Given the description of an element on the screen output the (x, y) to click on. 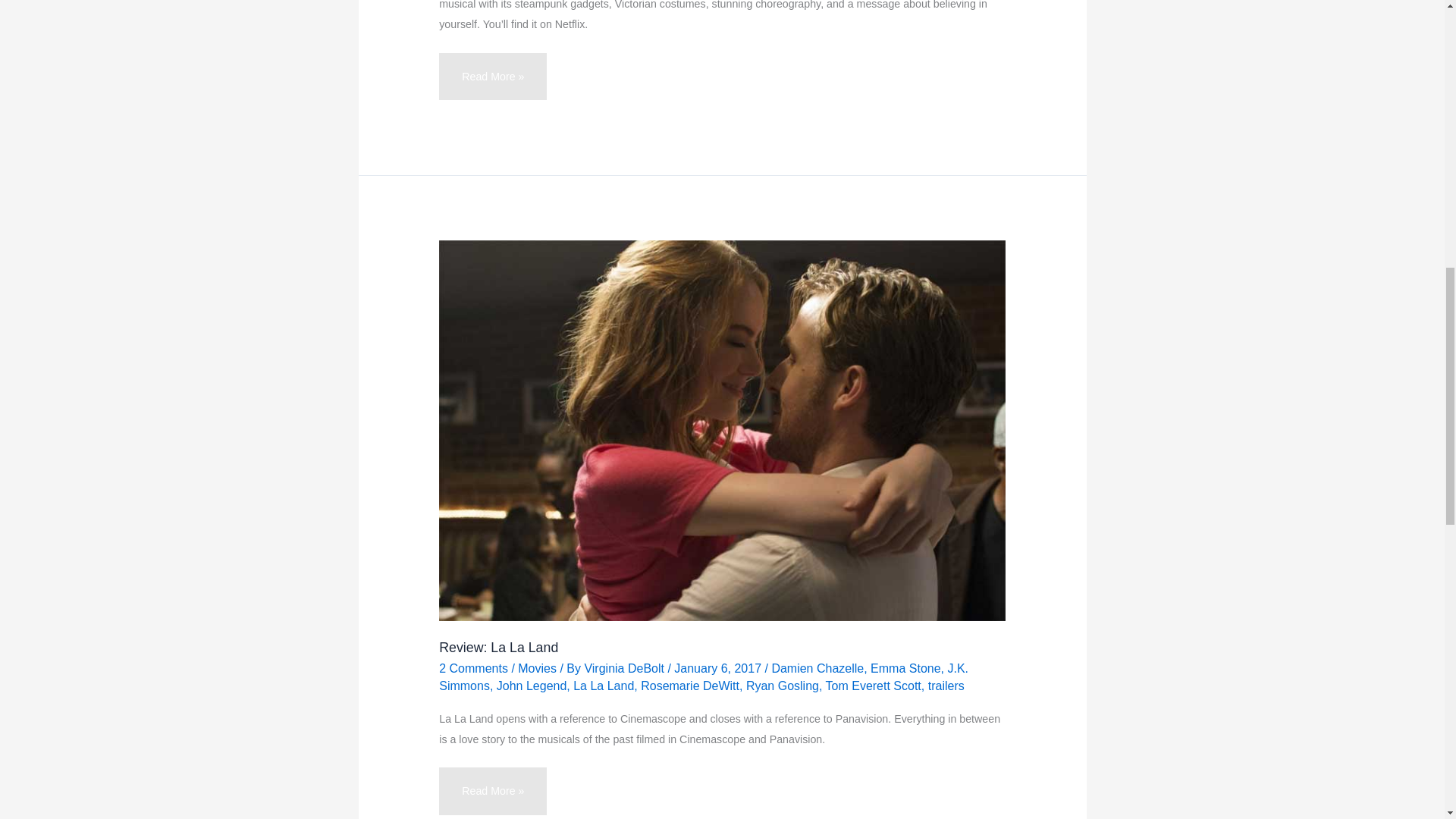
View all posts by Virginia DeBolt (624, 667)
Damien Chazelle (817, 667)
2 Comments (473, 667)
Movies (537, 667)
Virginia DeBolt (624, 667)
Review: La La Land (498, 647)
